Given the description of an element on the screen output the (x, y) to click on. 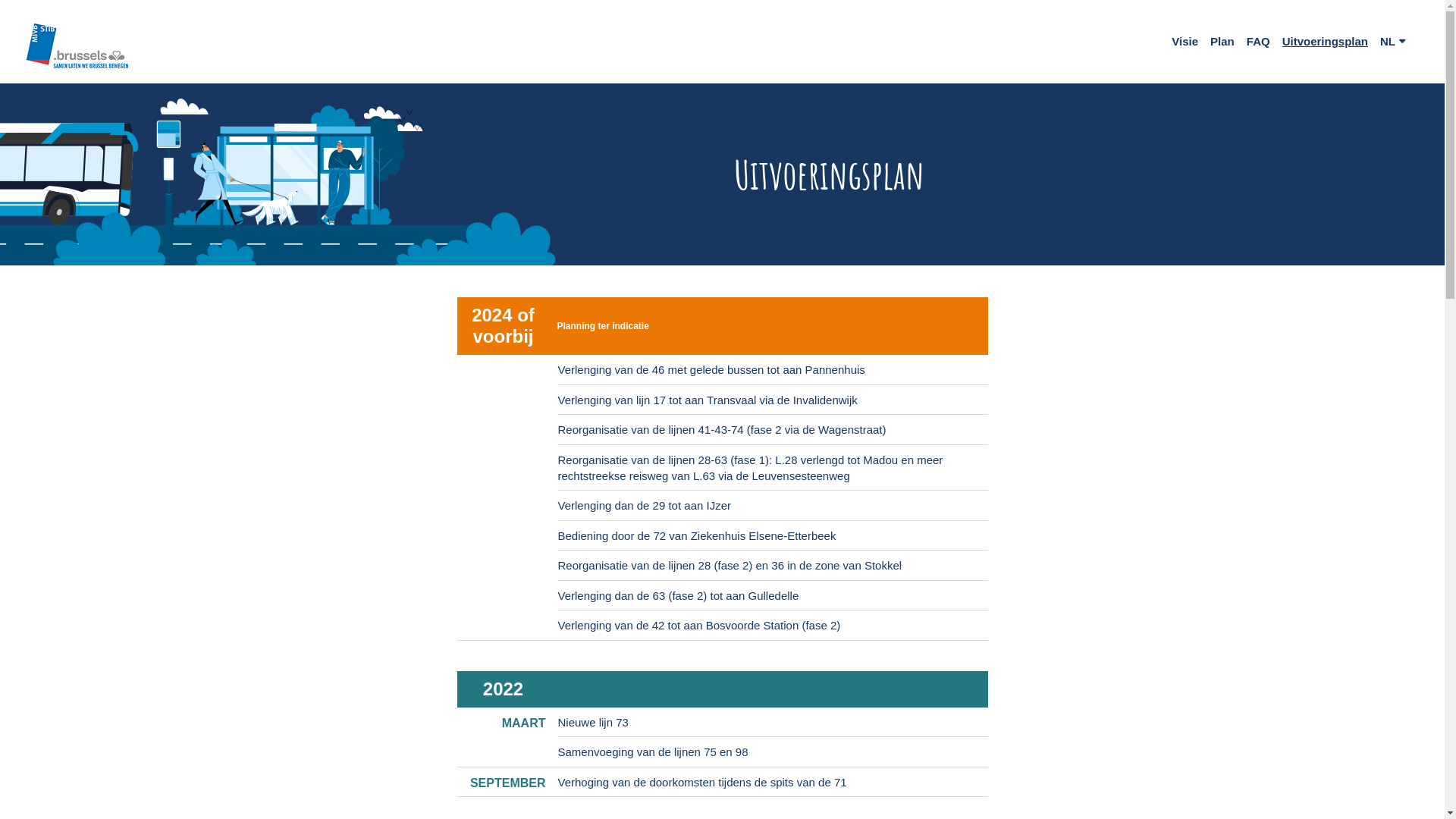
Uitvoeringsplan Element type: text (1325, 40)
FAQ Element type: text (1258, 40)
NL Element type: text (1387, 40)
Visie Element type: text (1184, 40)
Plan Element type: text (1222, 40)
